Given the description of an element on the screen output the (x, y) to click on. 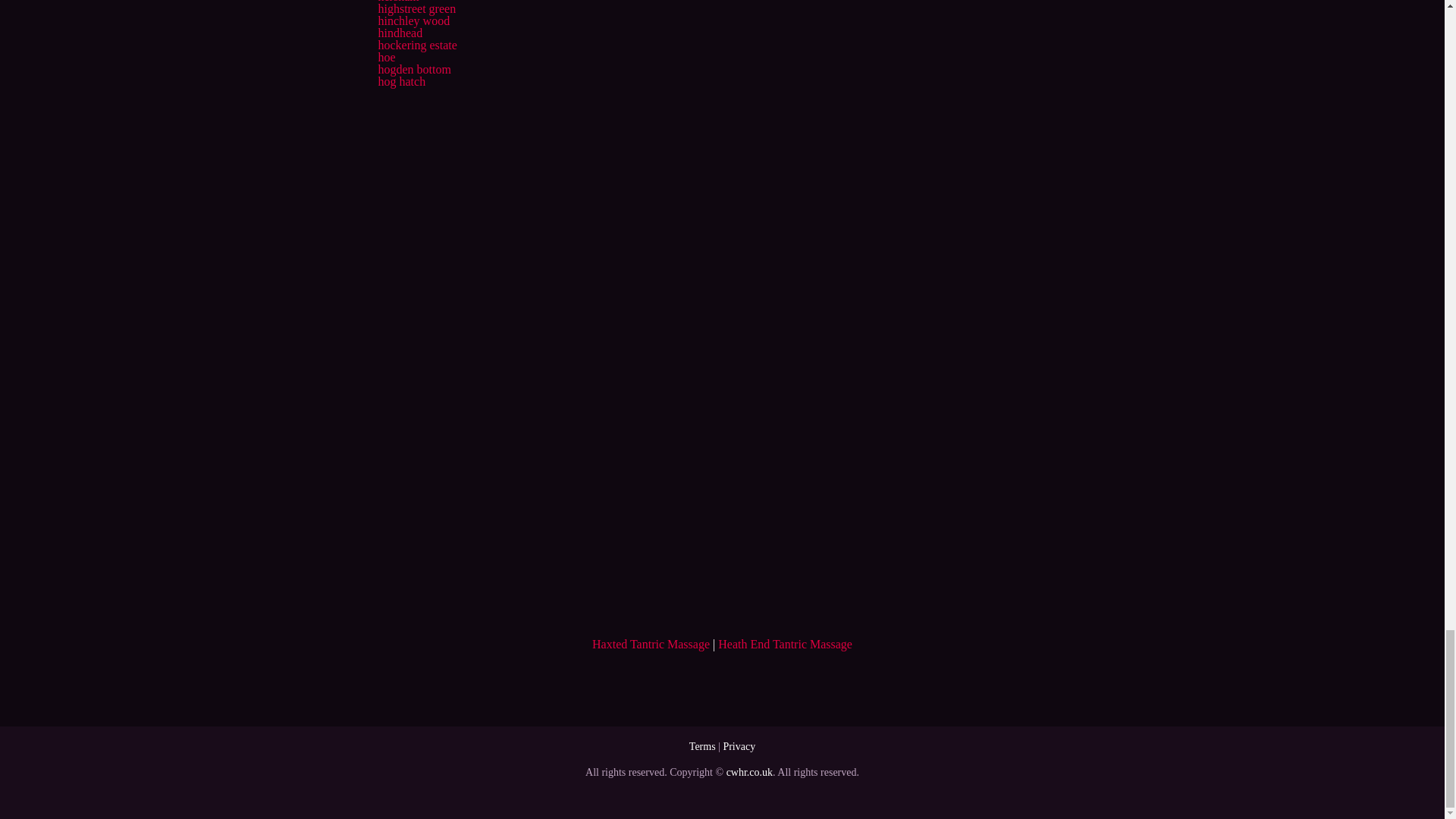
highstreet green (416, 8)
hersham (398, 1)
hindhead (399, 32)
cwhr.co.uk (749, 772)
Privacy (738, 746)
Haxted Tantric Massage (651, 644)
Privacy (738, 746)
Terms (702, 746)
Heath End Tantric Massage (784, 644)
Terms (702, 746)
